Given the description of an element on the screen output the (x, y) to click on. 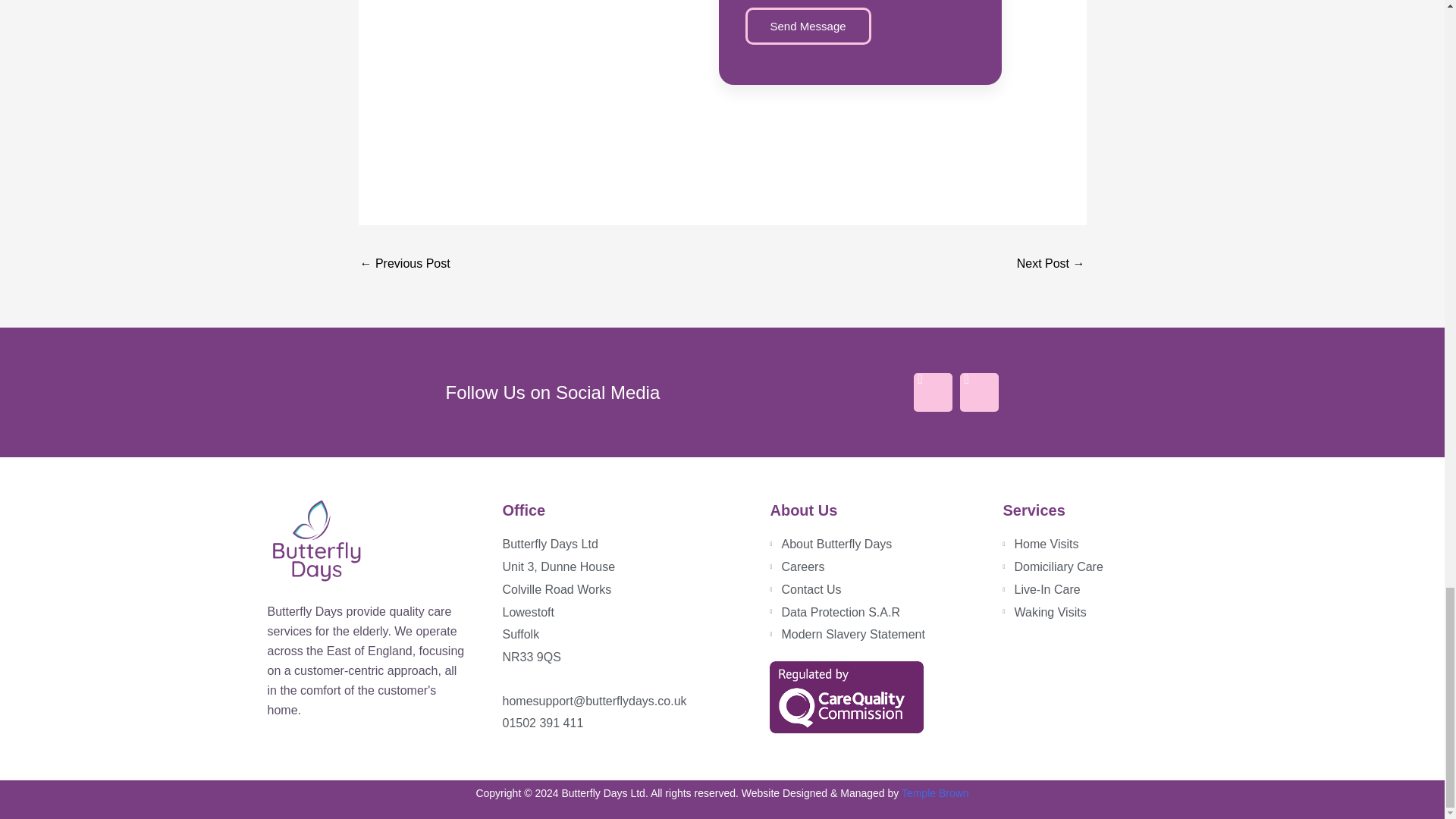
The Health Benefits of Taking a Stroll (404, 264)
Caring for a Cancer Patient At Home (1050, 264)
